Given the description of an element on the screen output the (x, y) to click on. 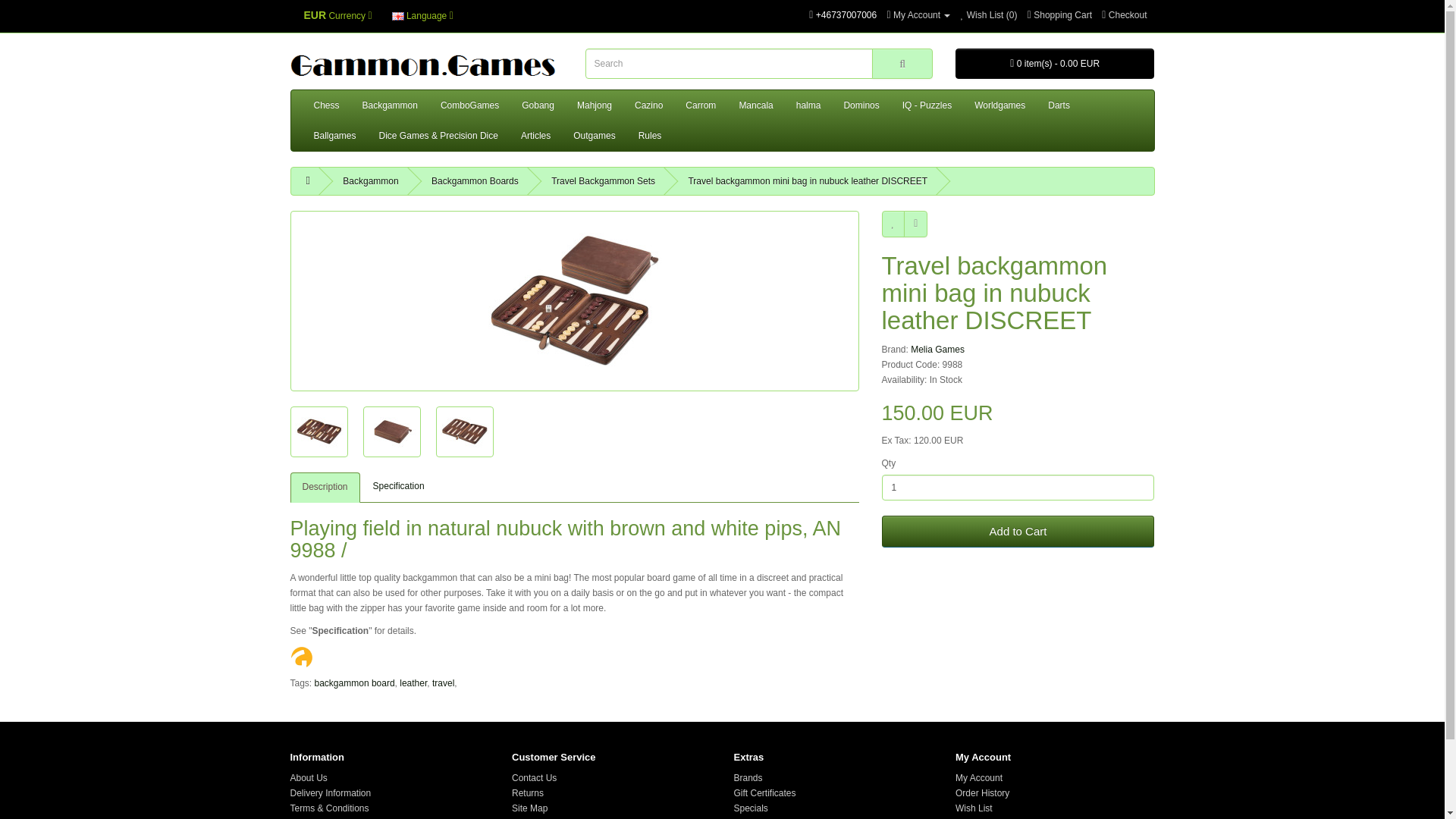
My Account (918, 14)
Travel backgammon mini bag in nubuck leather DISCREET (390, 431)
Gobang (538, 105)
My Account (918, 14)
Cazino (648, 105)
Mahjong (594, 105)
Checkout (1124, 14)
ComboGames (470, 105)
English (397, 16)
Travel backgammon mini bag in nubuck leather DISCREET (574, 300)
